Given the description of an element on the screen output the (x, y) to click on. 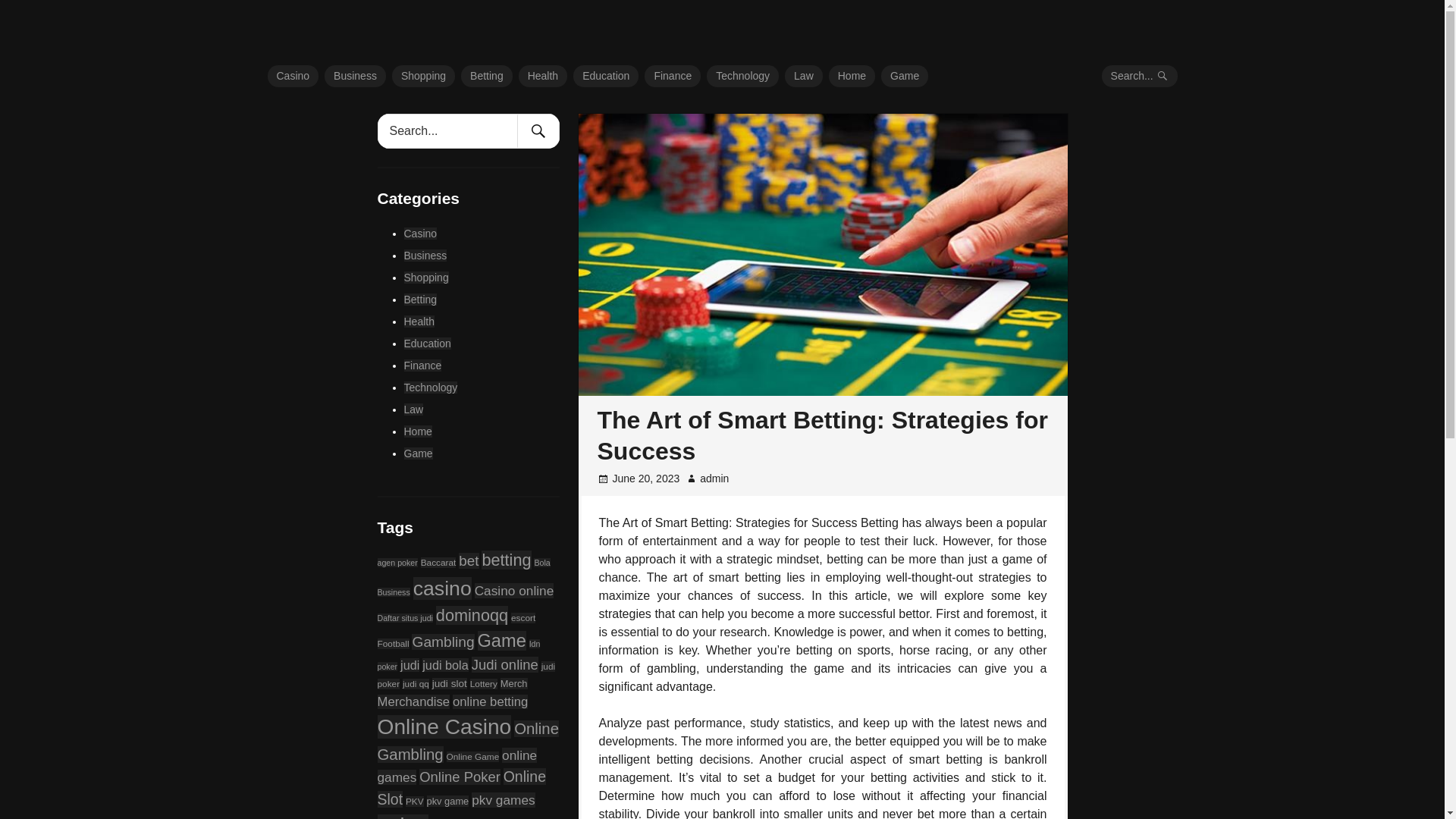
Shopping (422, 75)
Betting (486, 75)
Business (424, 254)
Game (904, 75)
Law (803, 75)
Finance (672, 75)
Betting (419, 298)
Business (354, 75)
Technology (742, 75)
Shopping (425, 277)
Casino (292, 75)
admin (714, 478)
June 20, 2023 (645, 478)
Order Cialisffd (344, 28)
Home (851, 75)
